Given the description of an element on the screen output the (x, y) to click on. 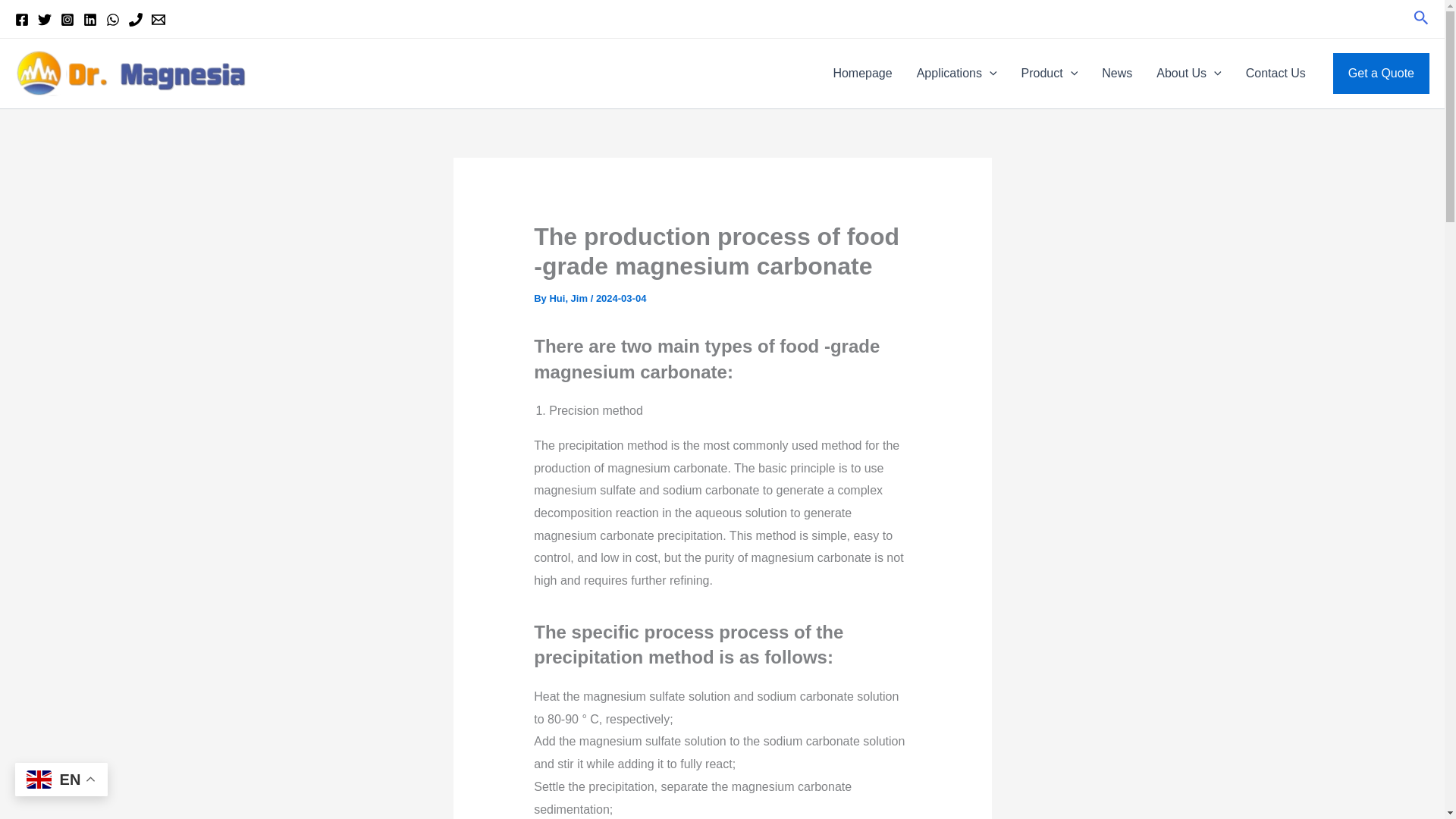
Homepage (862, 73)
Product (1049, 73)
Applications (956, 73)
News (1116, 73)
About Us (1188, 73)
View all posts by Hui, Jim (568, 297)
